Given the description of an element on the screen output the (x, y) to click on. 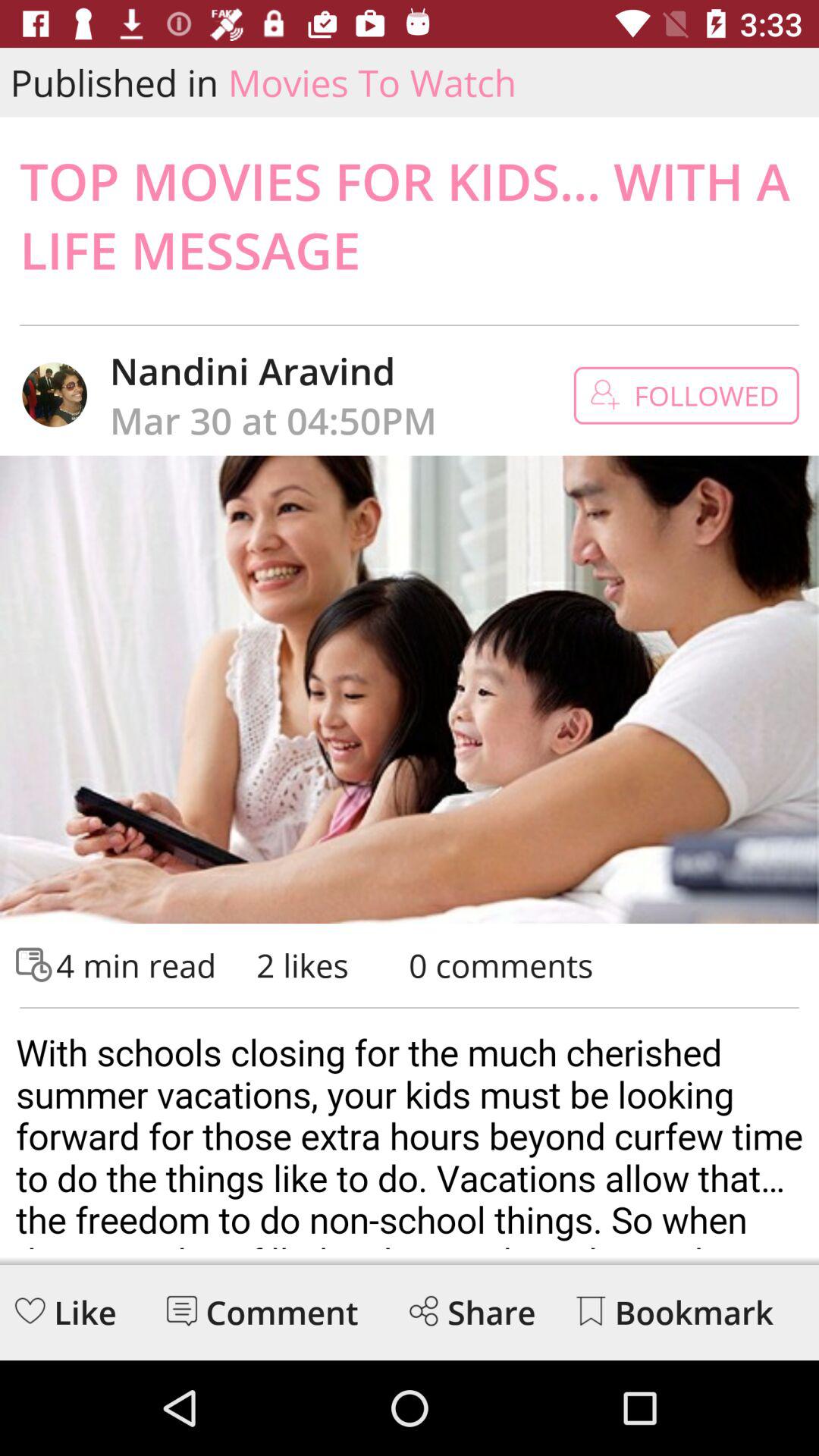
share the article (423, 1310)
